Given the description of an element on the screen output the (x, y) to click on. 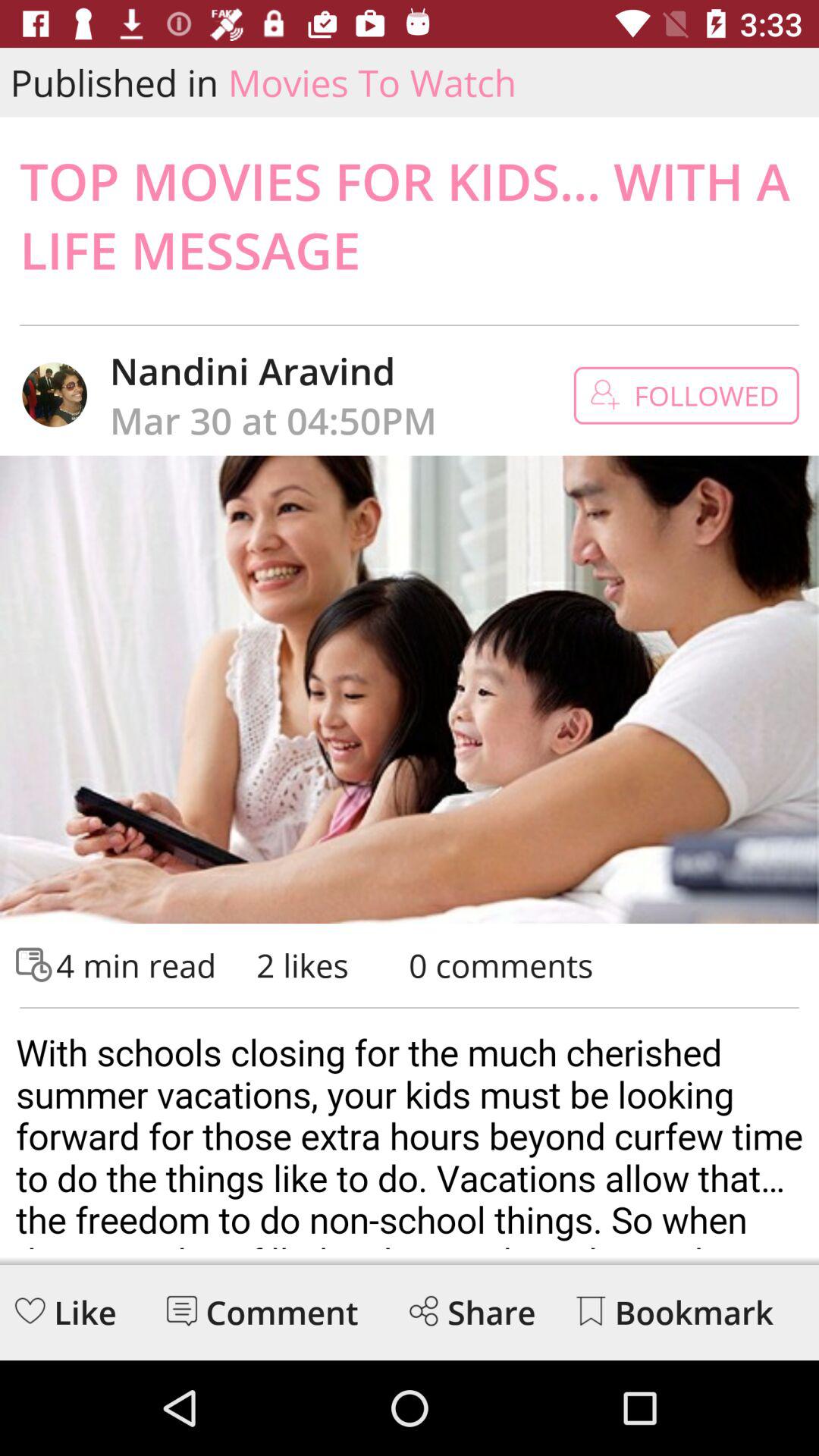
share the article (423, 1310)
